Given the description of an element on the screen output the (x, y) to click on. 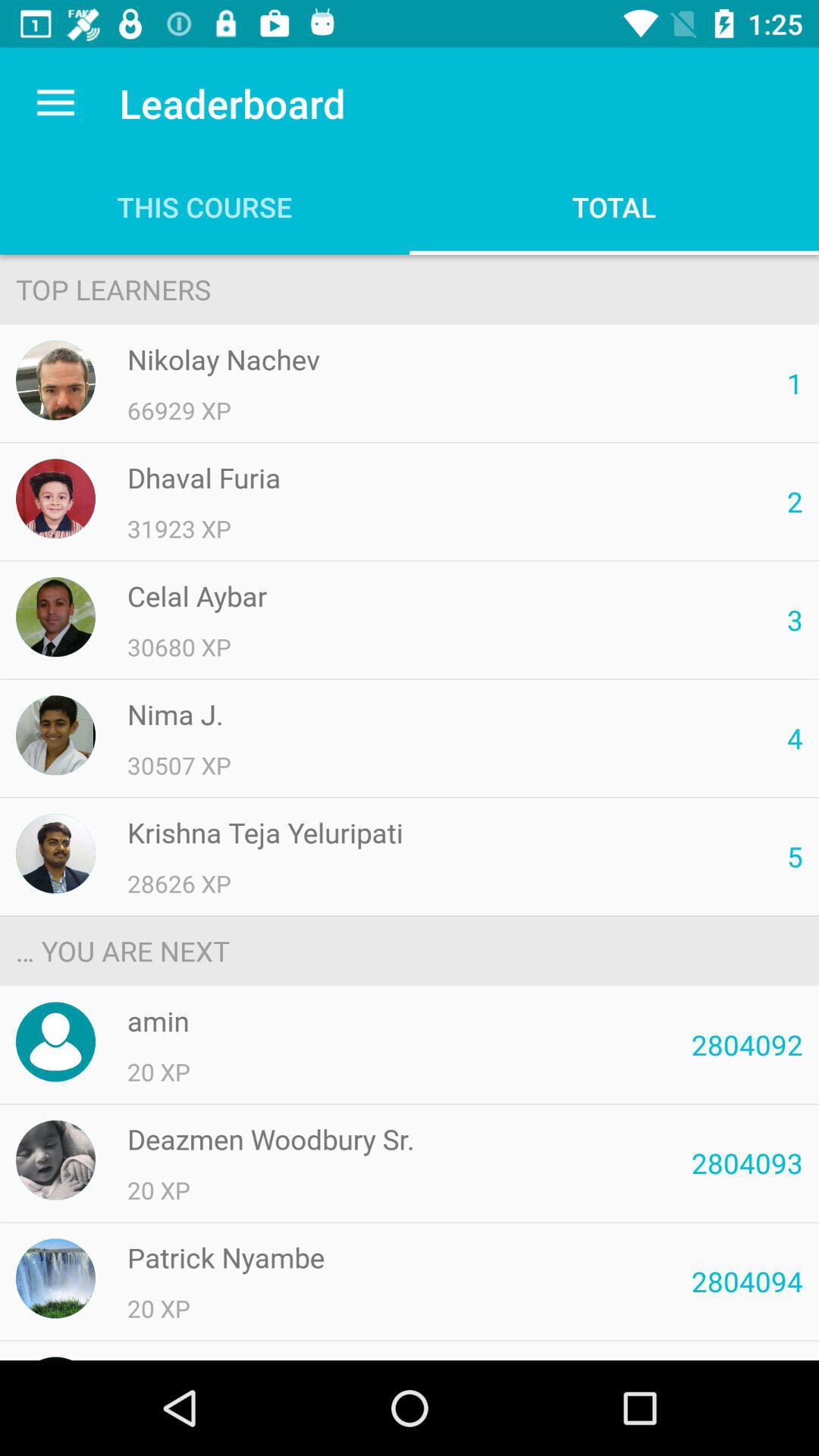
click the third image below title top learners (55, 616)
click on nikolay nachev (55, 380)
